Given the description of an element on the screen output the (x, y) to click on. 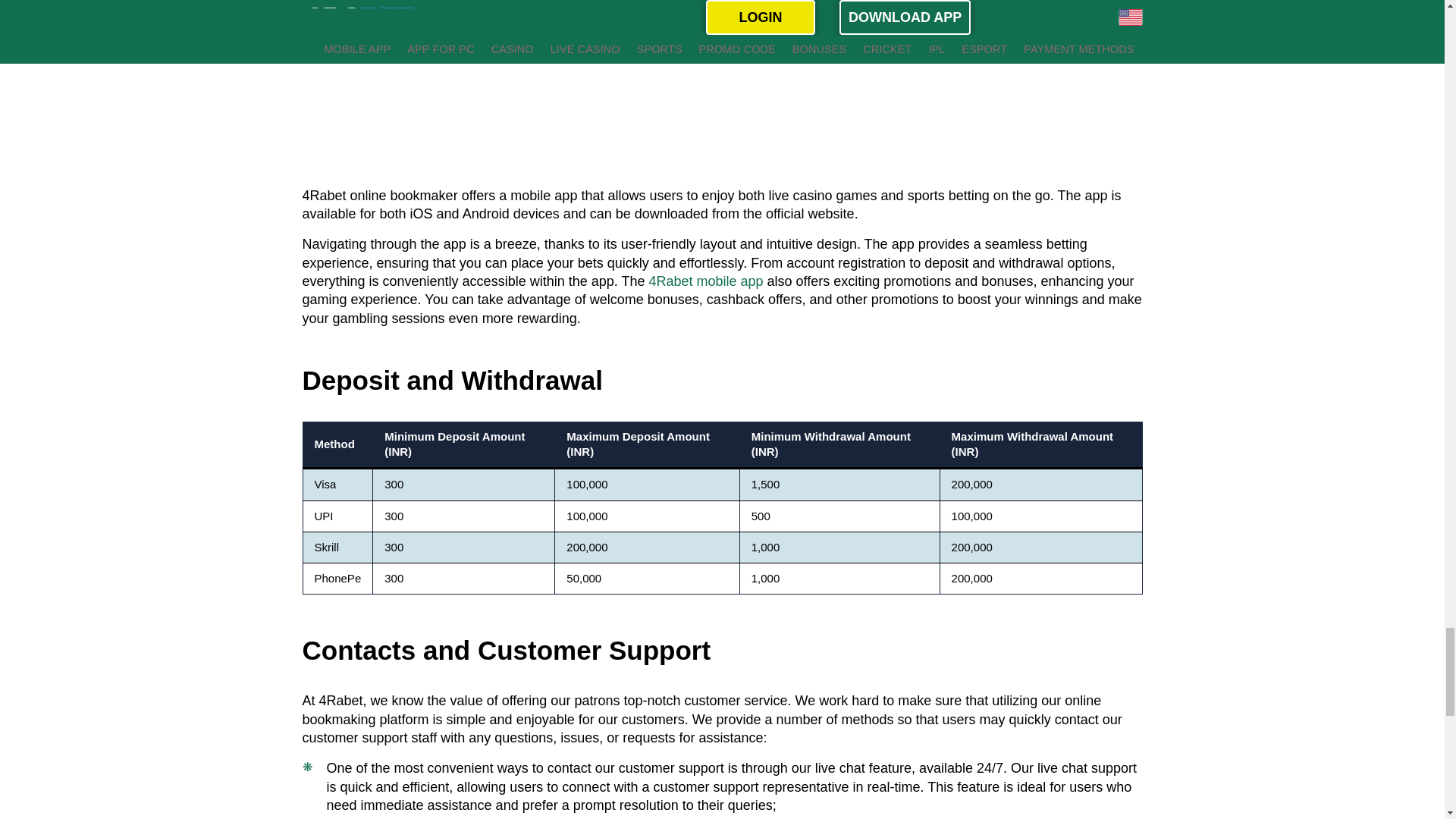
4Rabet mobile app (704, 281)
